Given the description of an element on the screen output the (x, y) to click on. 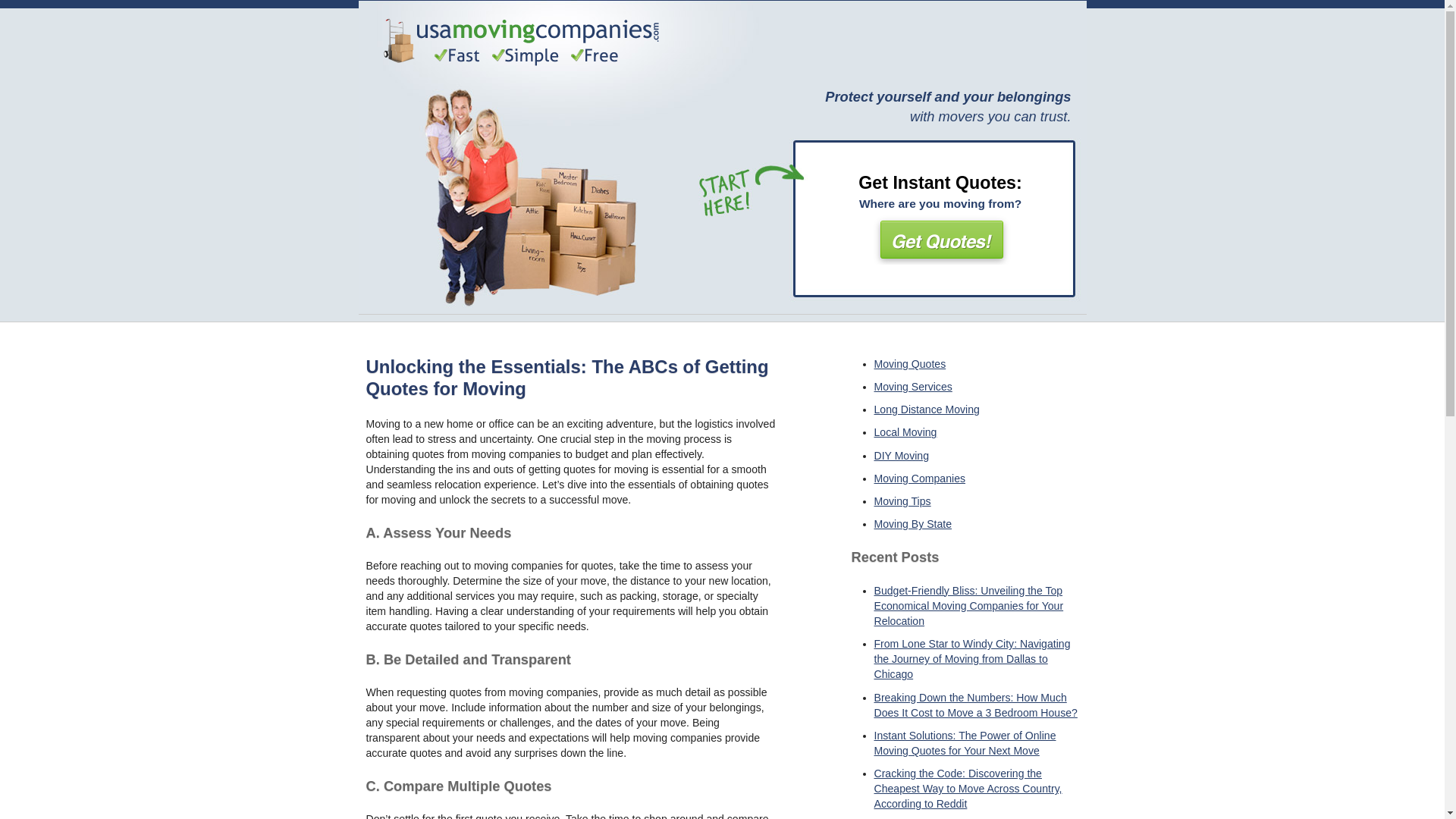
Moving By State (912, 523)
Long Distance Moving (925, 409)
DIY Moving (900, 455)
Moving Tips (901, 500)
Moving Services (912, 386)
Moving Quotes (908, 363)
Local Moving (904, 431)
Moving Companies (919, 478)
Get Quotes (939, 238)
